Given the description of an element on the screen output the (x, y) to click on. 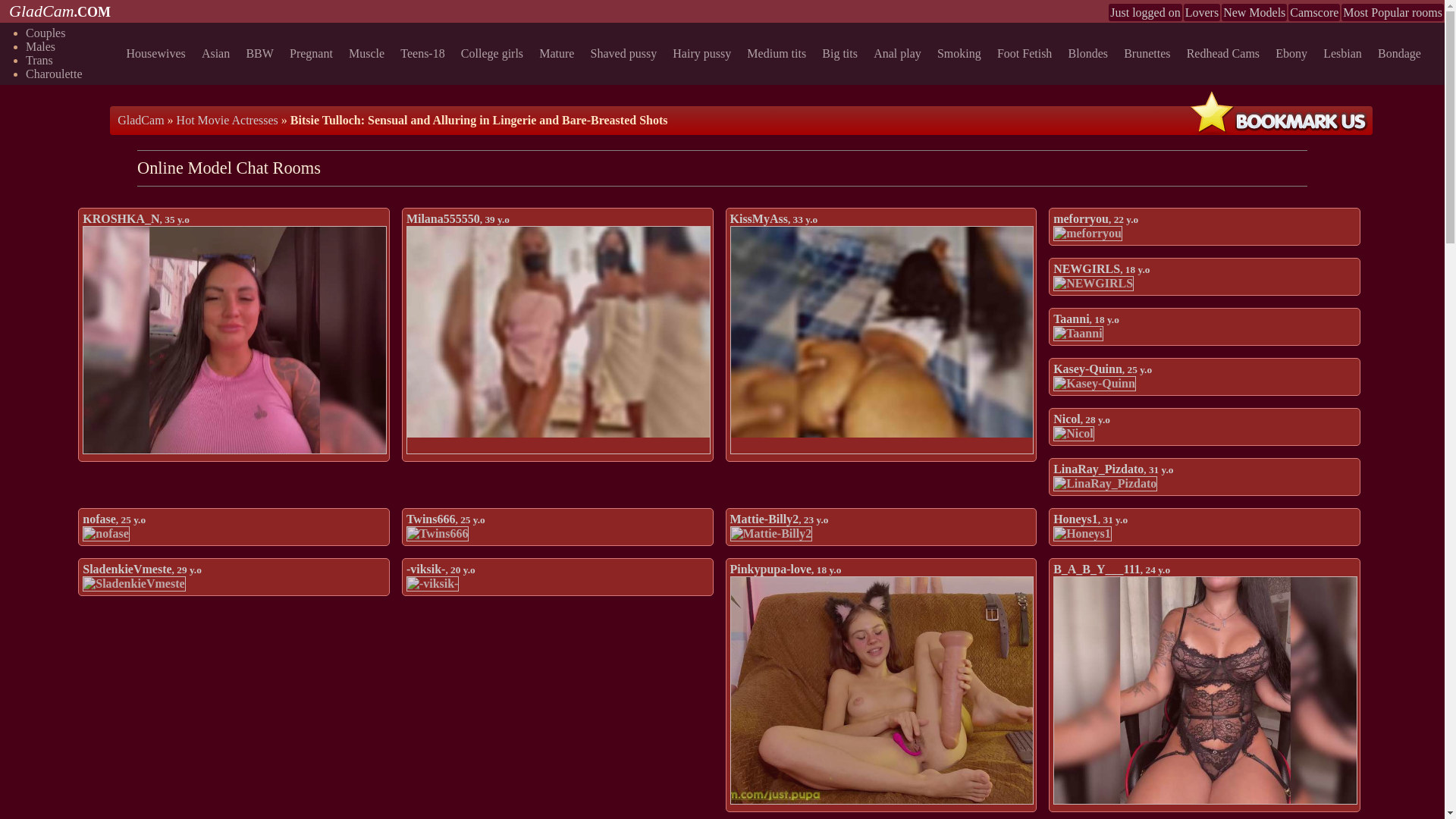
Mature (558, 52)
Muscle (369, 52)
Hot Movie Actresses (227, 119)
New Models (1254, 12)
Housewives (158, 52)
Asian (218, 52)
Teens-18 (424, 52)
GladCam (140, 119)
Live Sex Cams with Mattie-Billy2 (770, 533)
Camscore (1313, 12)
Trans (39, 60)
Live Sex Cams with -viksik- (433, 583)
Charoulette (54, 73)
Redhead Cams (1225, 52)
Pregnant (313, 52)
